Given the description of an element on the screen output the (x, y) to click on. 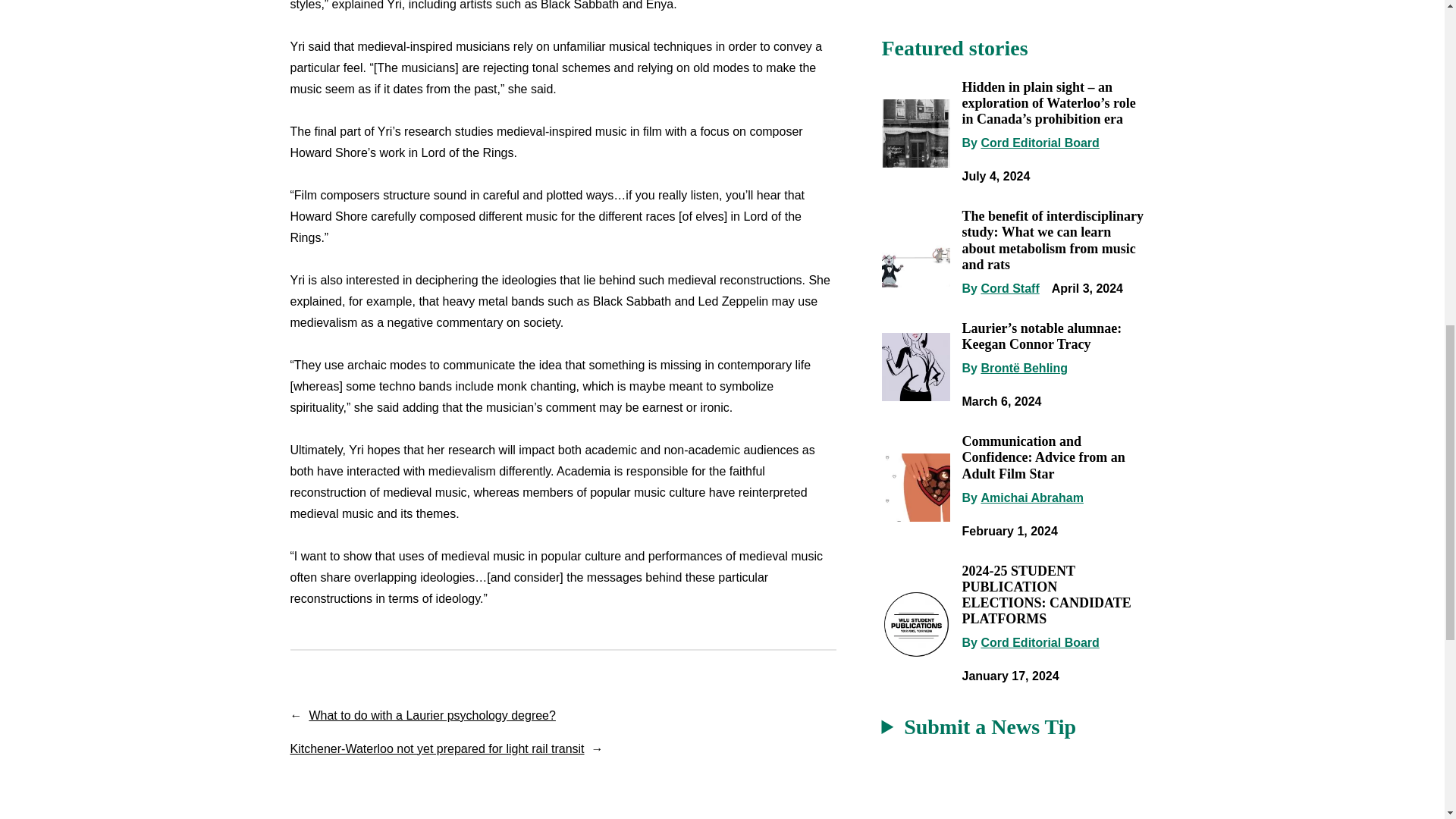
What to do with a Laurier psychology degree? (432, 715)
Posts by Cord Staff (1009, 287)
Posts by Amichai Abraham (1031, 497)
Posts by Cord Editorial Board (1039, 142)
Kitchener-Waterloo not yet prepared for light rail transit (436, 748)
Posts by Cord Editorial Board (1039, 642)
